Given the description of an element on the screen output the (x, y) to click on. 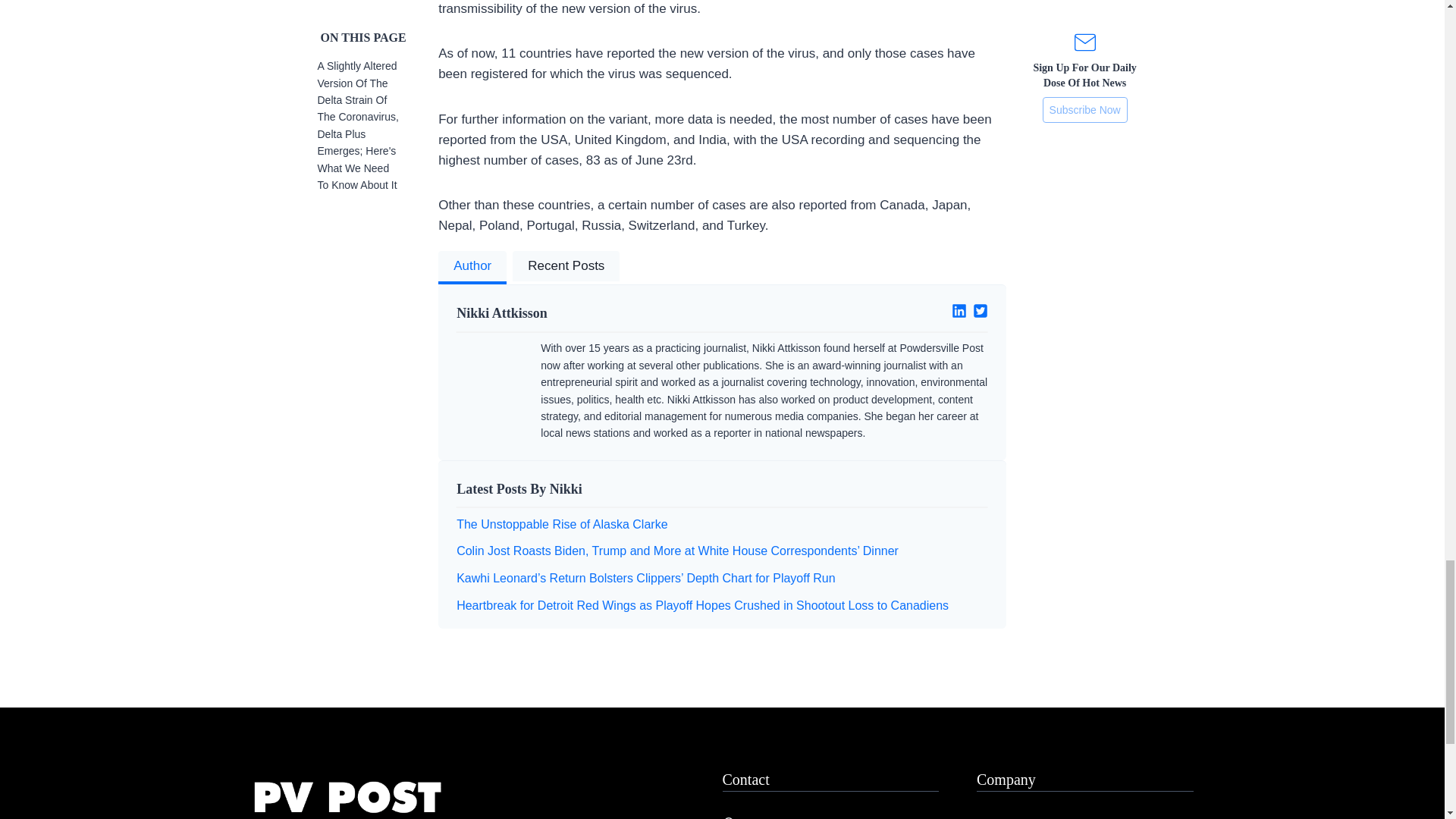
Recent Posts (566, 267)
The Unstoppable Rise of Alaska Clarke (561, 523)
Author (472, 267)
Nikki Attkisson (583, 313)
